Given the description of an element on the screen output the (x, y) to click on. 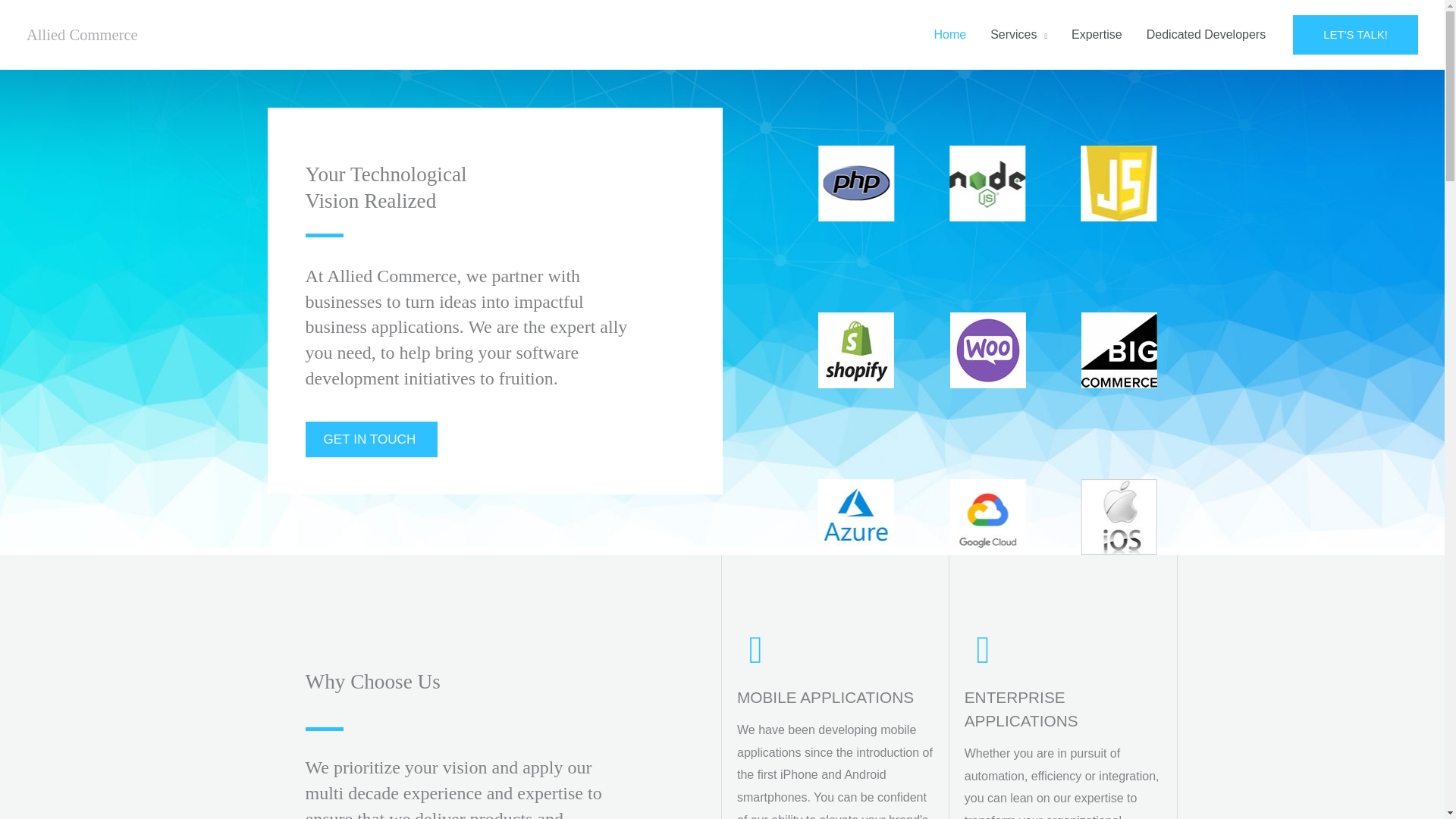
LET'S TALK! (1355, 34)
GET IN TOUCH (371, 439)
Home (949, 34)
Dedicated Developers (1206, 34)
Allied Commerce (82, 34)
Expertise (1096, 34)
Services (1018, 34)
